Given the description of an element on the screen output the (x, y) to click on. 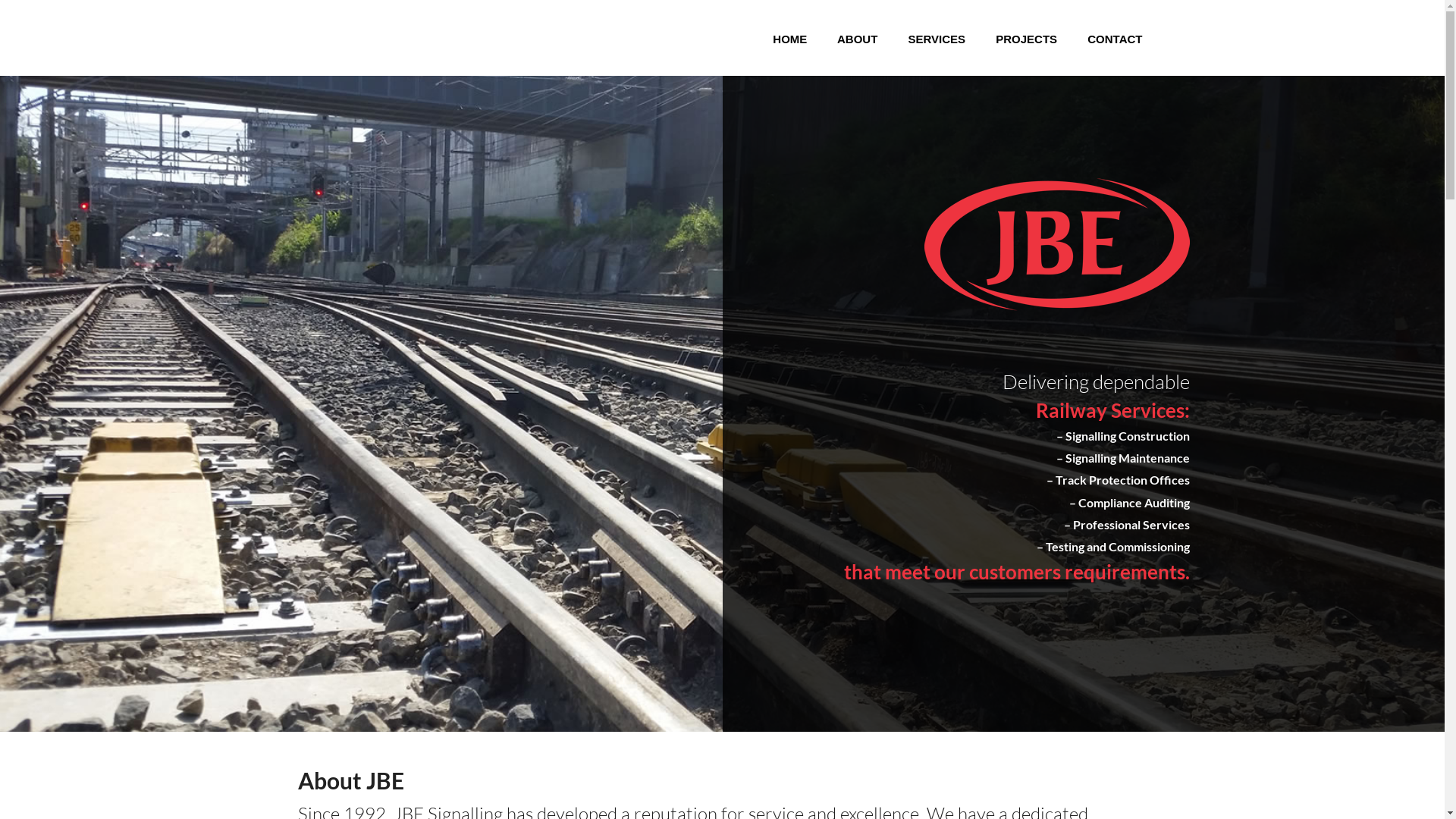
SERVICES Element type: text (933, 38)
CONTACT Element type: text (1111, 38)
PROJECTS Element type: text (1023, 38)
ABOUT Element type: text (854, 38)
HOME Element type: text (786, 38)
